Given the description of an element on the screen output the (x, y) to click on. 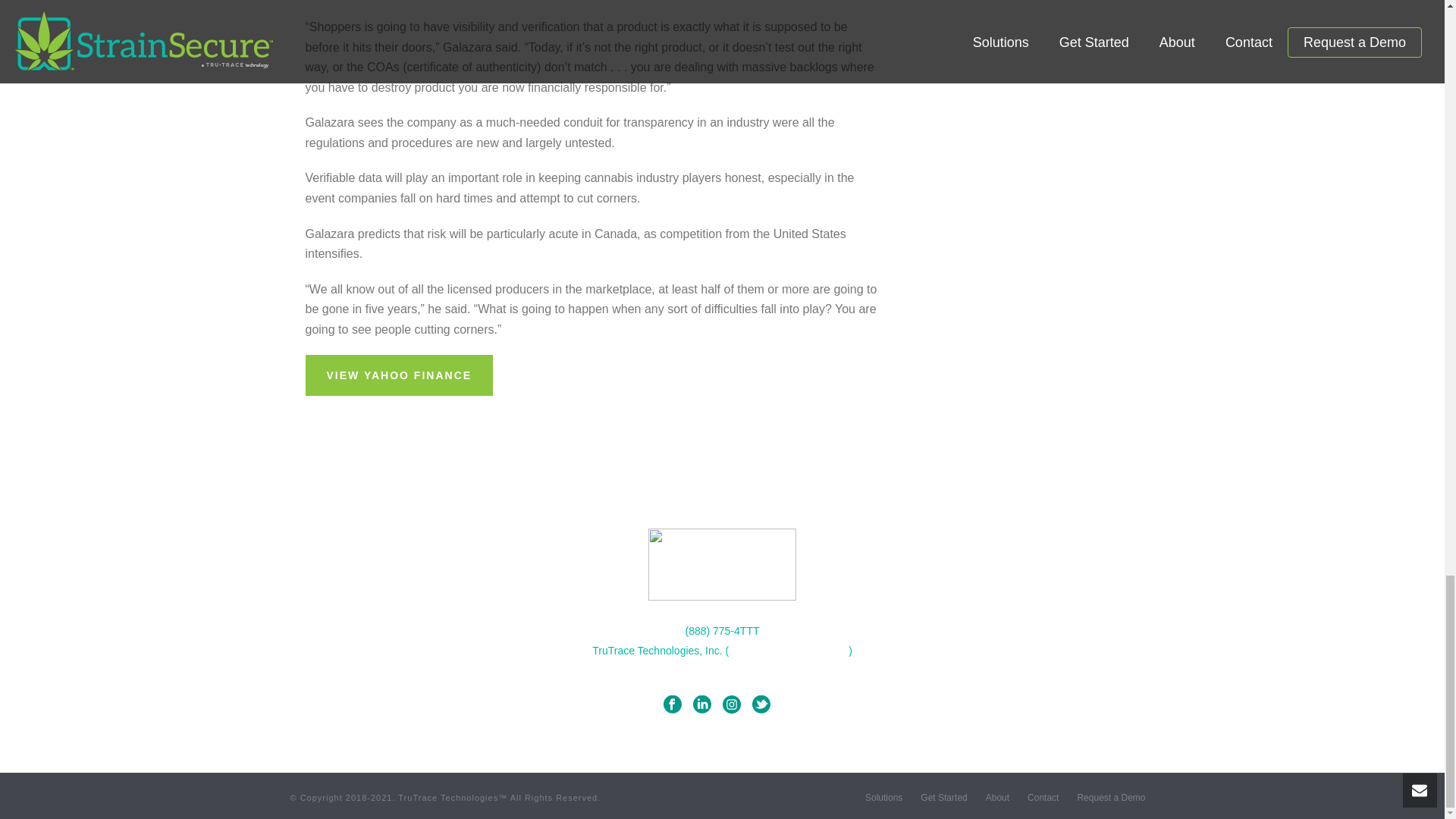
Follow Us on facebook (671, 704)
VIEW YAHOO FINANCE (398, 374)
Follow Us on instagram (730, 704)
Follow Us on linkedin (702, 704)
Follow Us on twitter (761, 704)
VIEW YAHOO FINANCE (398, 374)
